Given the description of an element on the screen output the (x, y) to click on. 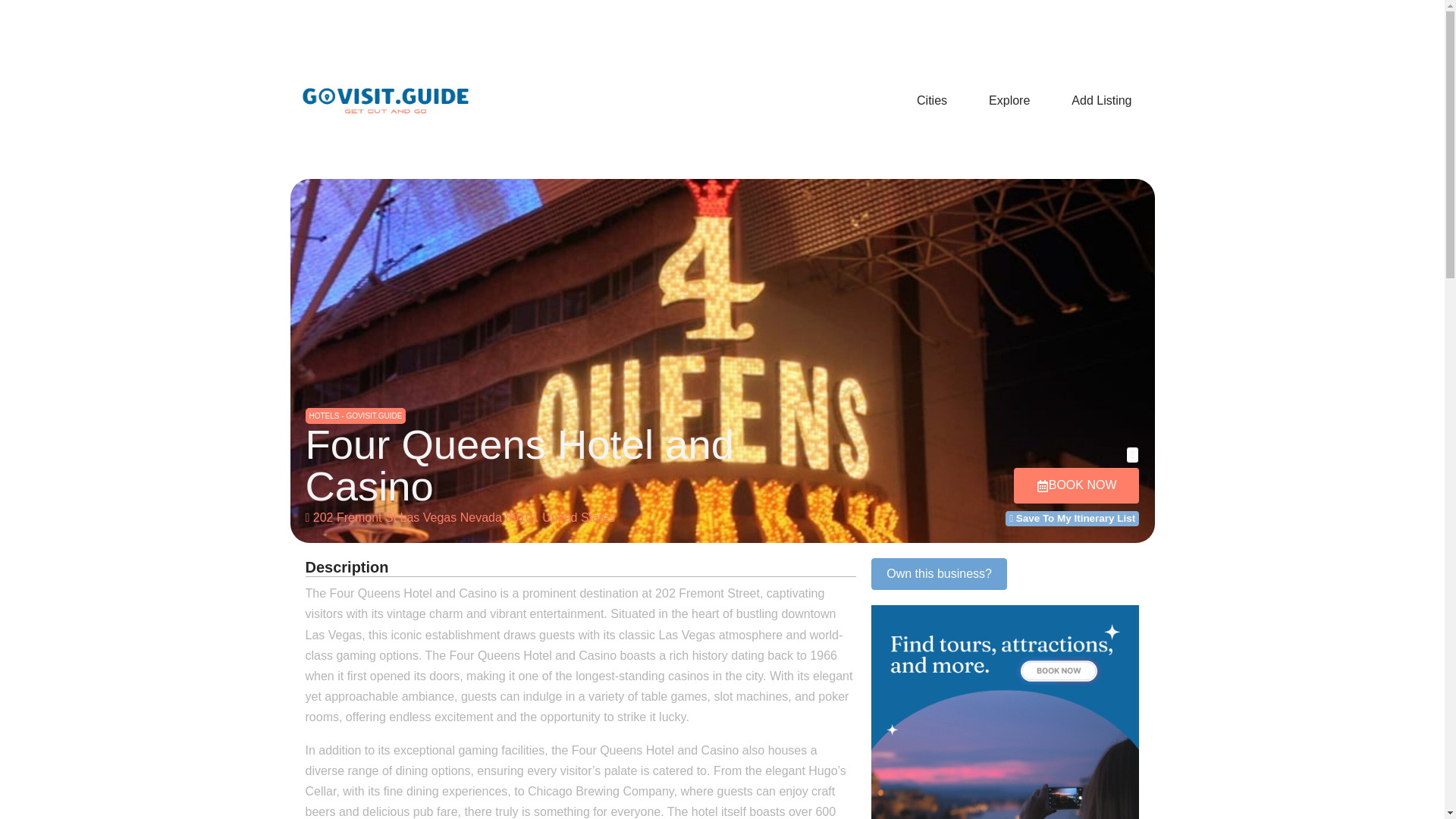
Skip to content (11, 31)
Explore (1009, 100)
Add Listing (1102, 100)
Cities (931, 100)
